Given the description of an element on the screen output the (x, y) to click on. 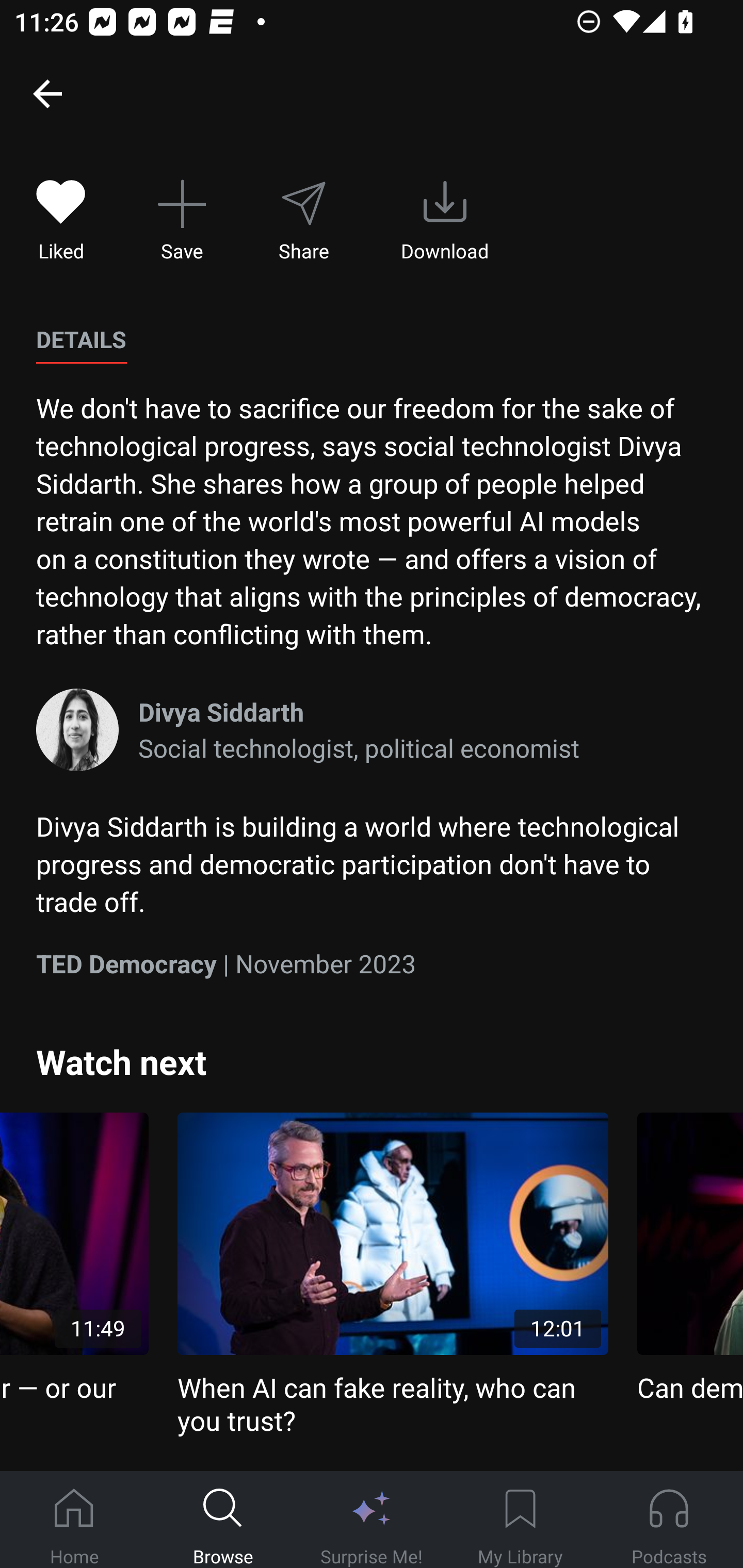
Search, back (47, 92)
Liked (60, 220)
Save (181, 220)
Share (302, 220)
Download (444, 220)
DETAILS (80, 339)
12:01 When AI can fake reality, who can you trust? (392, 1275)
Home (74, 1520)
Browse (222, 1520)
Surprise Me! (371, 1520)
My Library (519, 1520)
Podcasts (668, 1520)
